Given the description of an element on the screen output the (x, y) to click on. 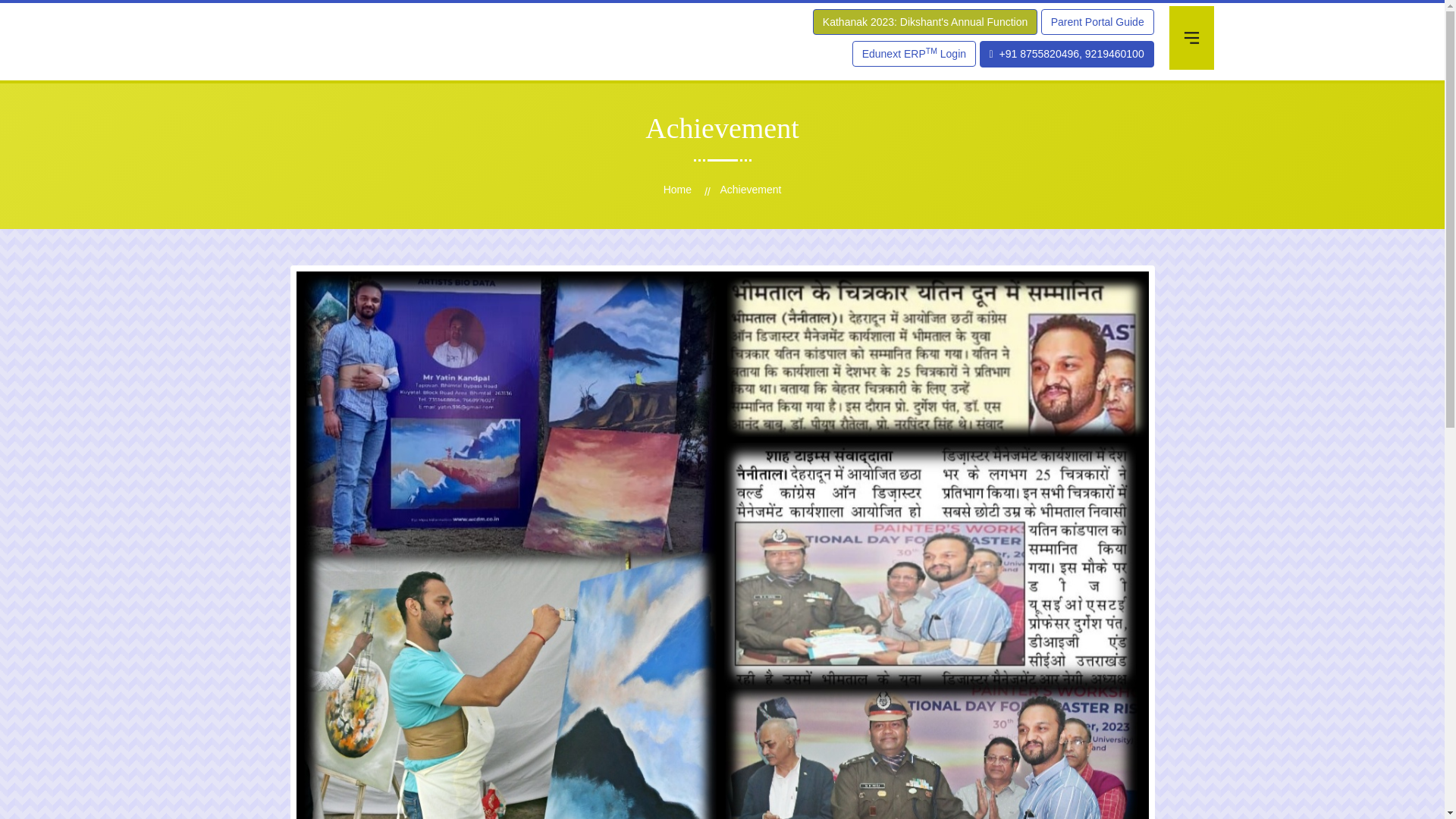
Dikshant International School Haldwani (329, 74)
Kathanak 2023: Dikshant's Annual Function (924, 22)
Edunext ERPTM Login (913, 53)
Parent Portal Guide (1097, 22)
